Given the description of an element on the screen output the (x, y) to click on. 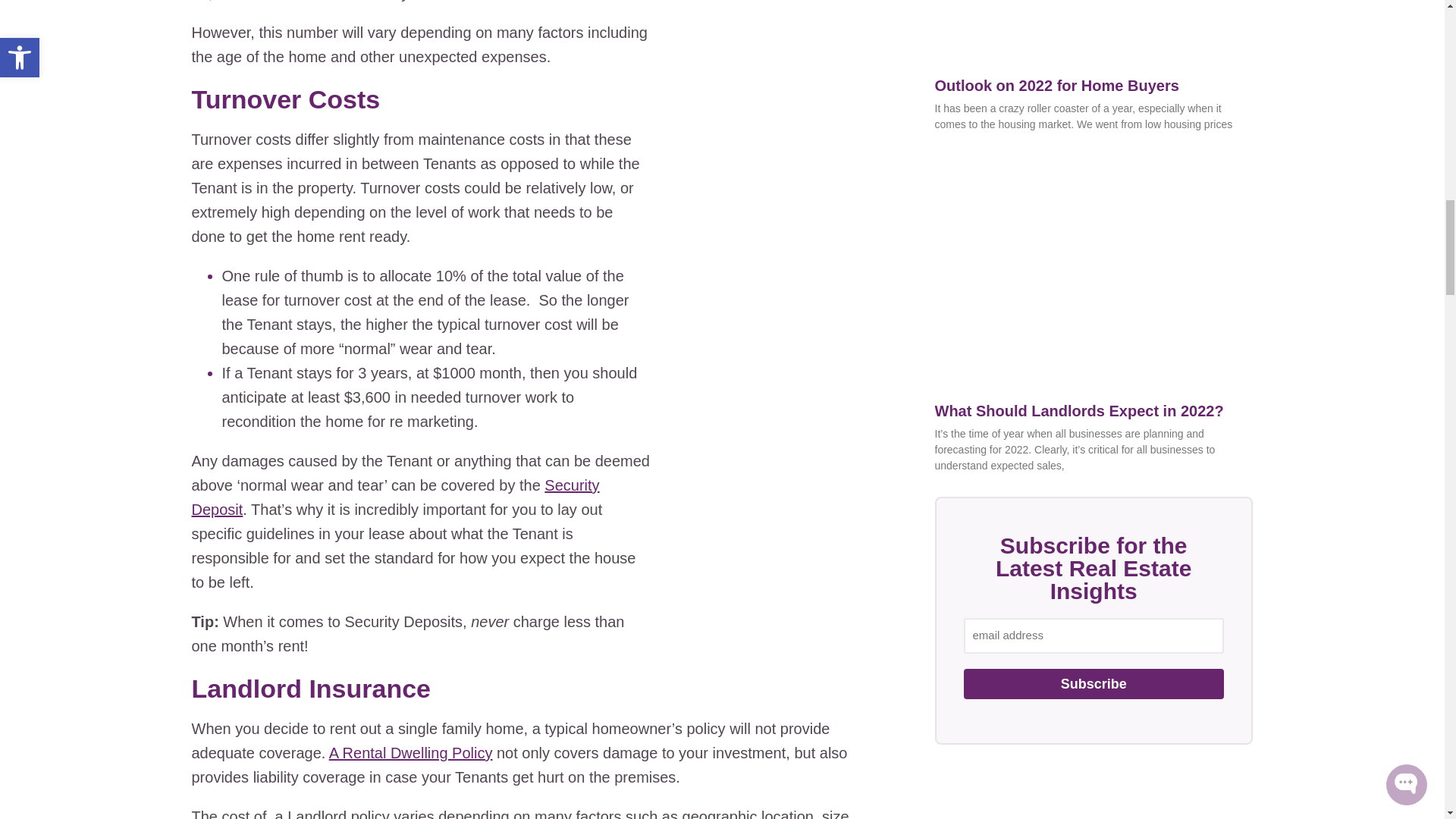
Subscribe (1092, 684)
